Given the description of an element on the screen output the (x, y) to click on. 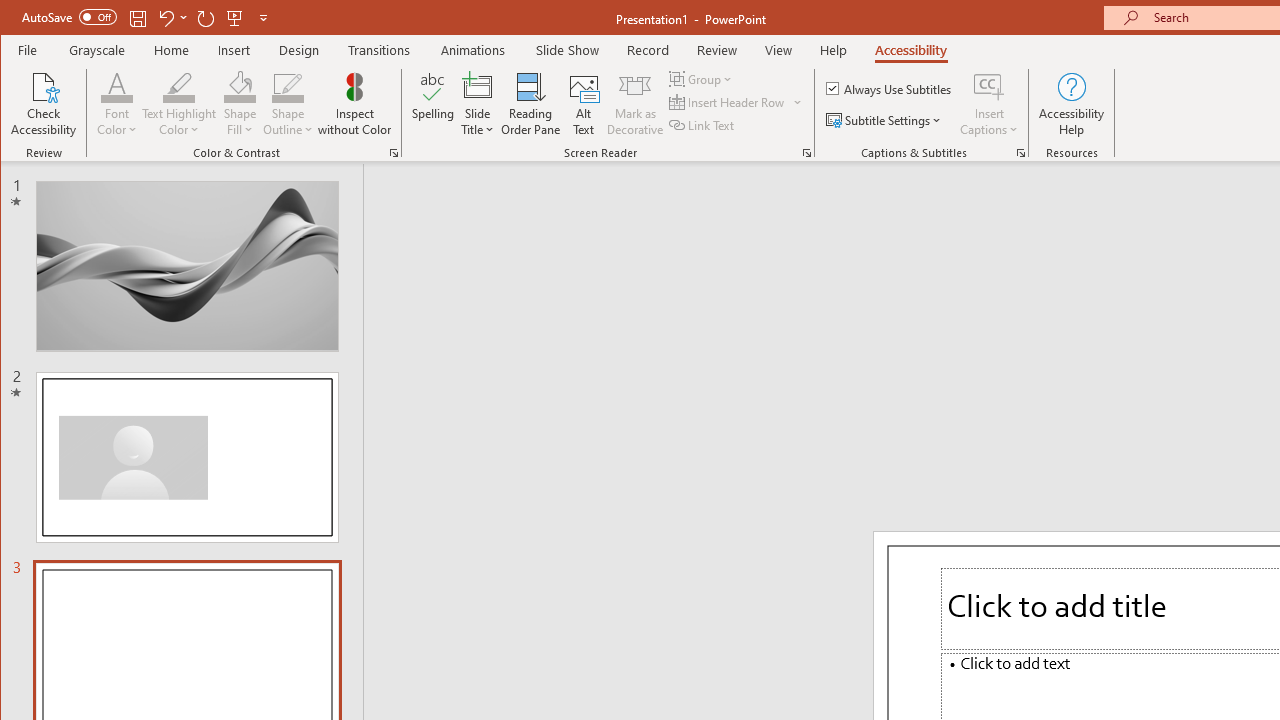
Accessibility Help (1071, 104)
Color & Contrast (393, 152)
Subtitle Settings (885, 119)
Captions & Subtitles (1020, 152)
